Given the description of an element on the screen output the (x, y) to click on. 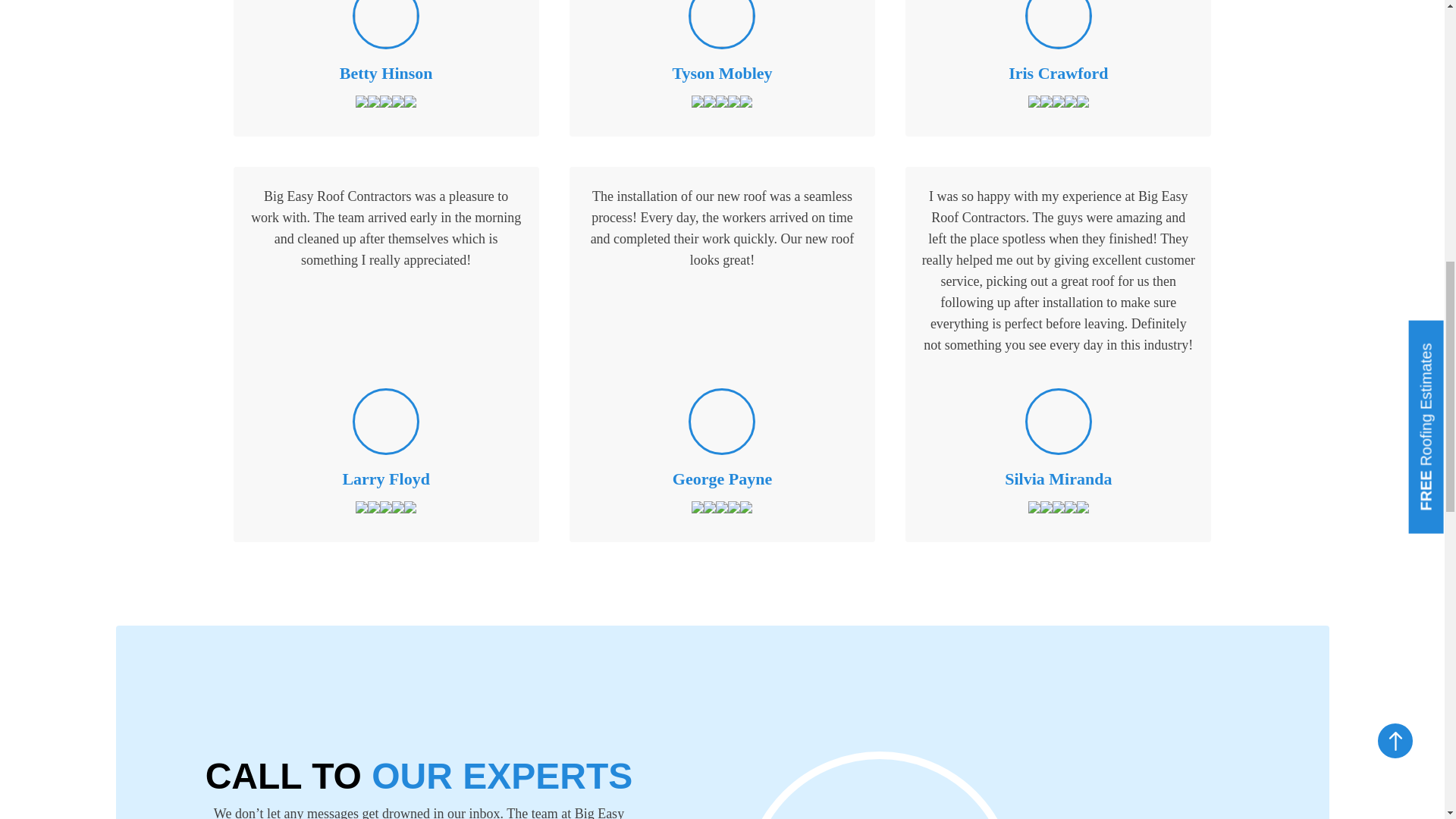
Untitled (385, 421)
Untitled (721, 23)
George Payne (721, 421)
residential roof repairs by big easy roof contractors (1085, 722)
Untitled (385, 23)
consultation-img-2 (880, 789)
Untitled (1058, 421)
Untitled (1058, 23)
